Given the description of an element on the screen output the (x, y) to click on. 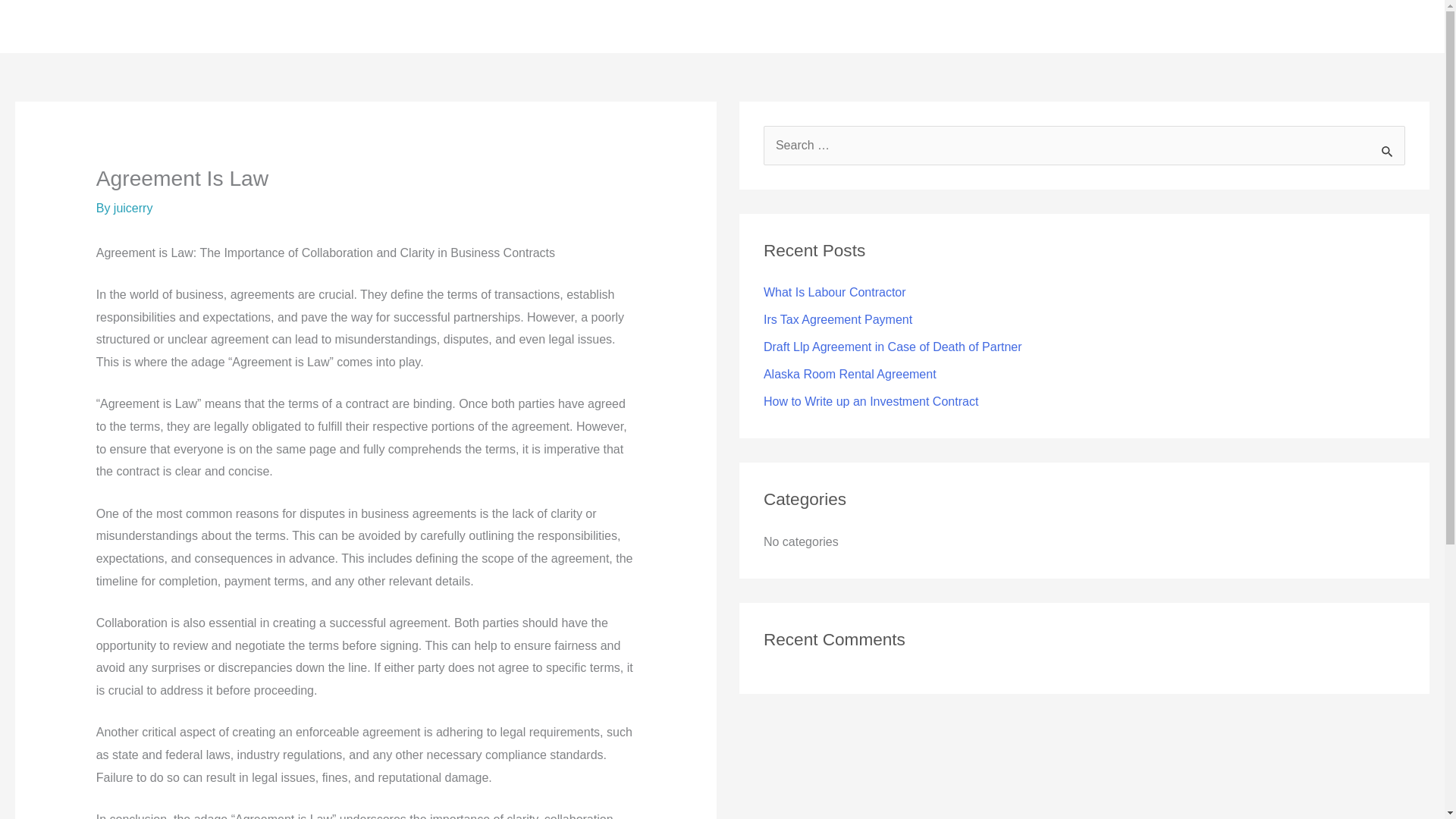
Search (1388, 147)
Irs Tax Agreement Payment (837, 318)
Draft Llp Agreement in Case of Death of Partner (892, 346)
Alaska Room Rental Agreement (849, 373)
juicerry (132, 207)
How to Write up an Investment Contract (870, 400)
Search (1388, 147)
View all posts by juicerry (132, 207)
Search (1388, 147)
What Is Labour Contractor (833, 291)
